Given the description of an element on the screen output the (x, y) to click on. 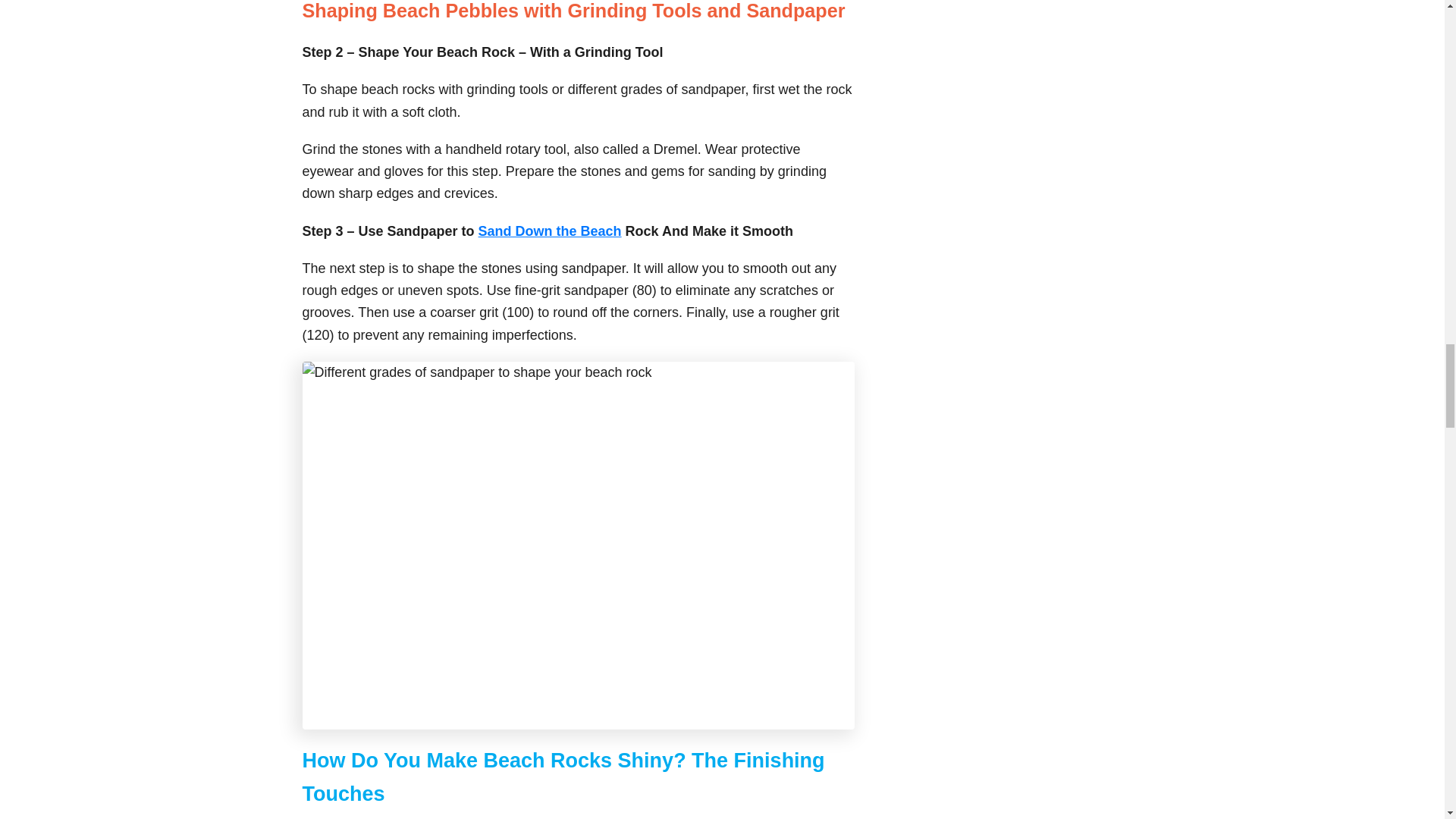
Sand Down the Beach (550, 231)
